Given the description of an element on the screen output the (x, y) to click on. 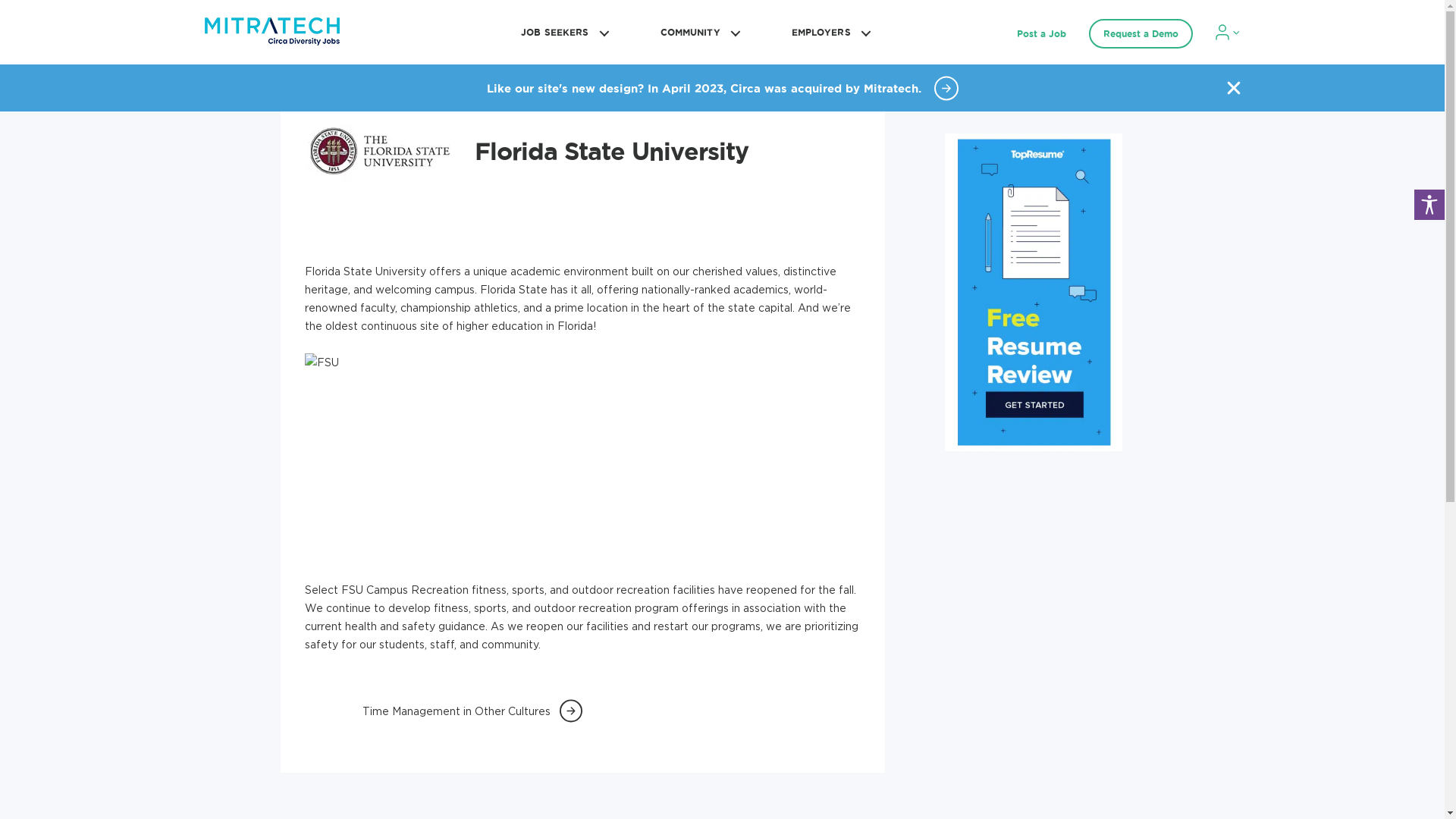
JOB SEEKERS (562, 31)
COMMUNITY (698, 31)
EMPLOYERS (829, 31)
